Given the description of an element on the screen output the (x, y) to click on. 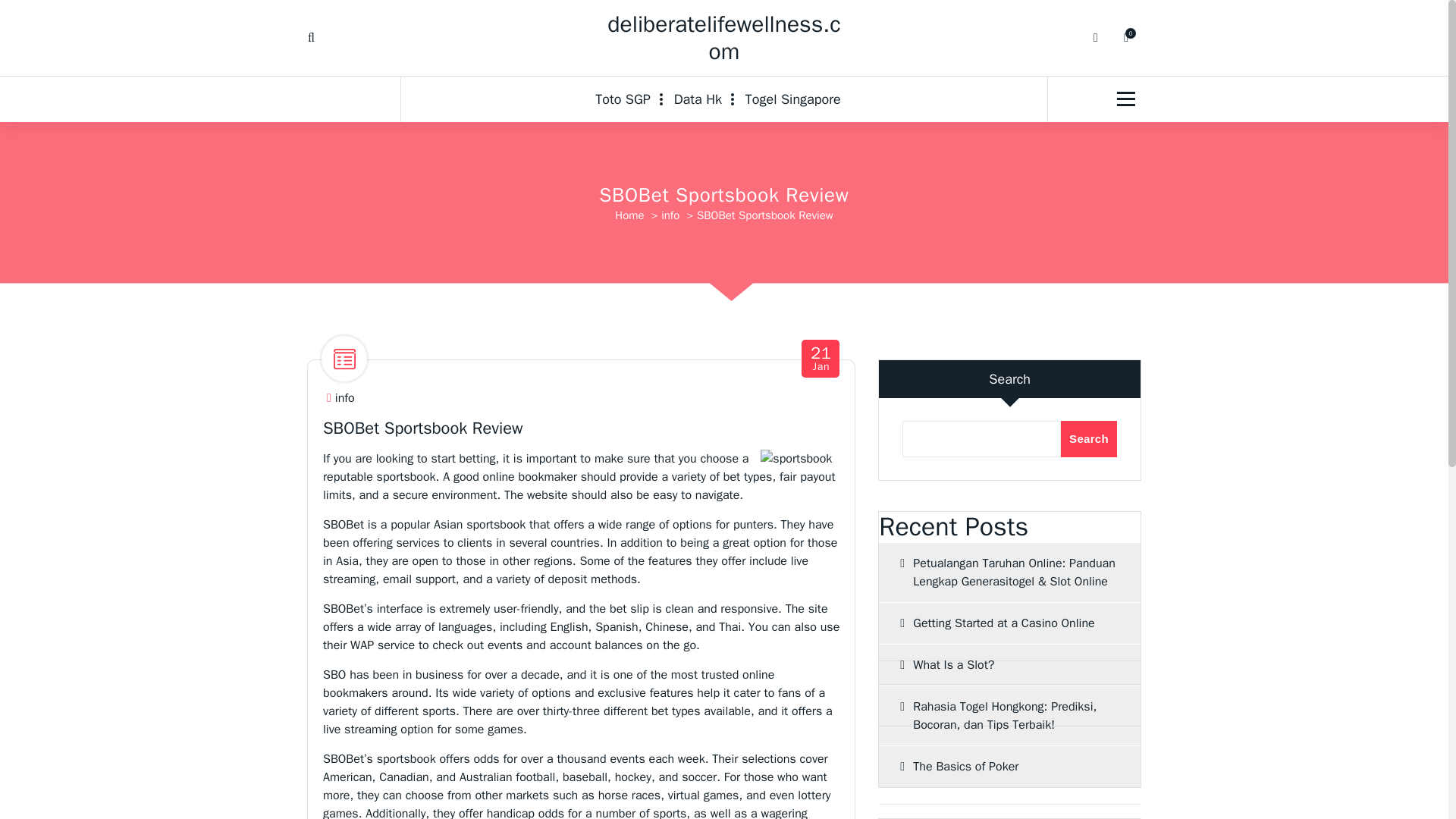
Toto SGP (628, 99)
Toto SGP (628, 99)
Search (1088, 438)
The Basics of Poker (1009, 766)
Togel Singapore (793, 99)
info (670, 214)
What Is a Slot? (1009, 664)
Data Hk (697, 99)
0 (1125, 37)
info (344, 398)
Getting Started at a Casino Online (1009, 622)
Togel Singapore (820, 358)
deliberatelifewellness.com (793, 99)
Data Hk (724, 37)
